Given the description of an element on the screen output the (x, y) to click on. 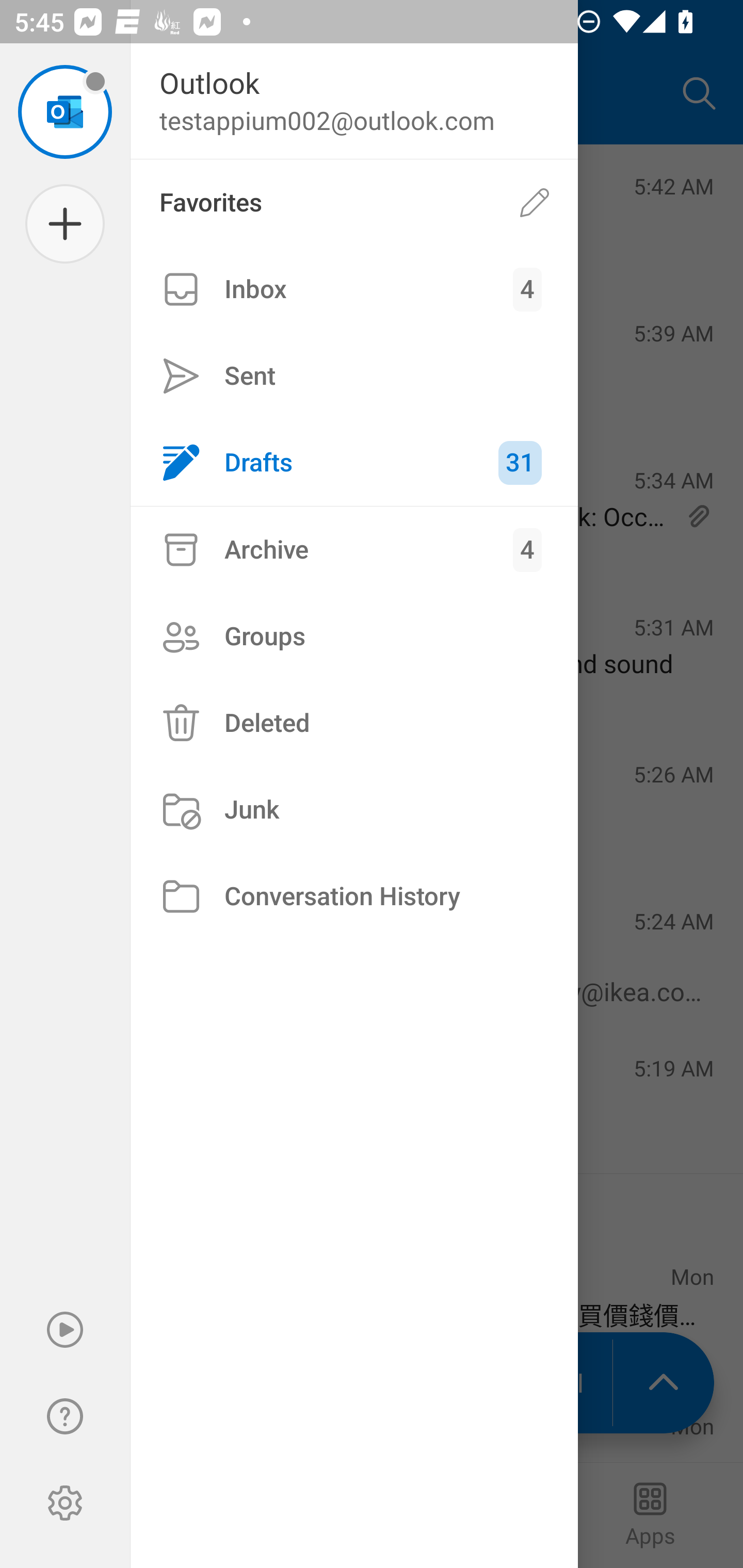
testappium002@outlook.com (64, 111)
Edit favorites (534, 202)
Add account (64, 224)
Inbox Inbox, 4 unread emails (354, 289)
Sent (354, 375)
Drafts Drafts, 31 unread emails,Selected (354, 462)
Archive Archive, 2 of 6, level 1, 4 unread emails (354, 549)
Groups Groups, 3 of 6, level 1 (354, 636)
Deleted Deleted, 4 of 6, level 1 (354, 723)
Junk Junk, 5 of 6, level 1 (354, 809)
Play My Emails (64, 1329)
Help (64, 1416)
Settings (64, 1502)
